Given the description of an element on the screen output the (x, y) to click on. 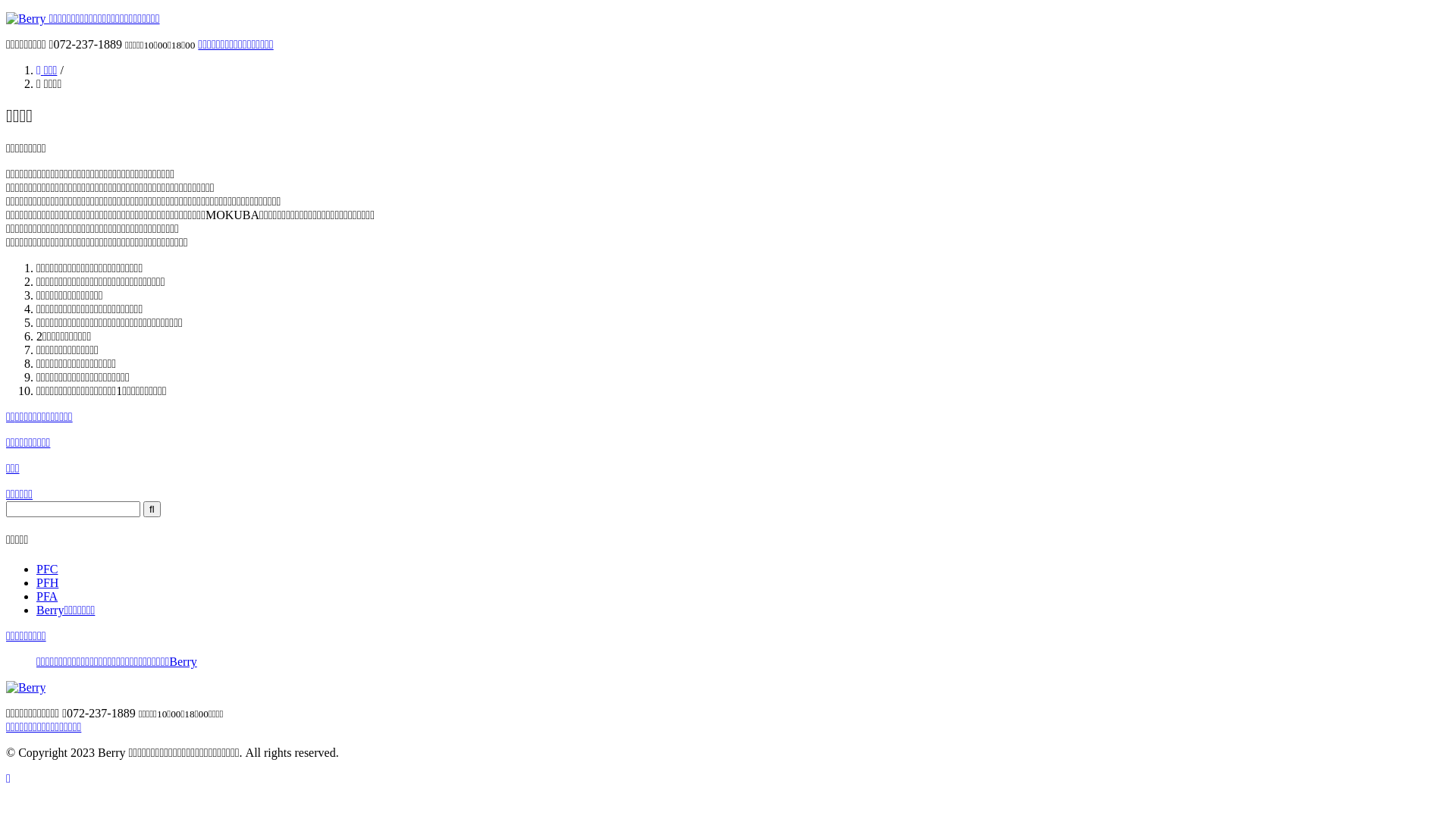
PFC Element type: text (46, 568)
PFA Element type: text (46, 595)
PFH Element type: text (47, 582)
